Given the description of an element on the screen output the (x, y) to click on. 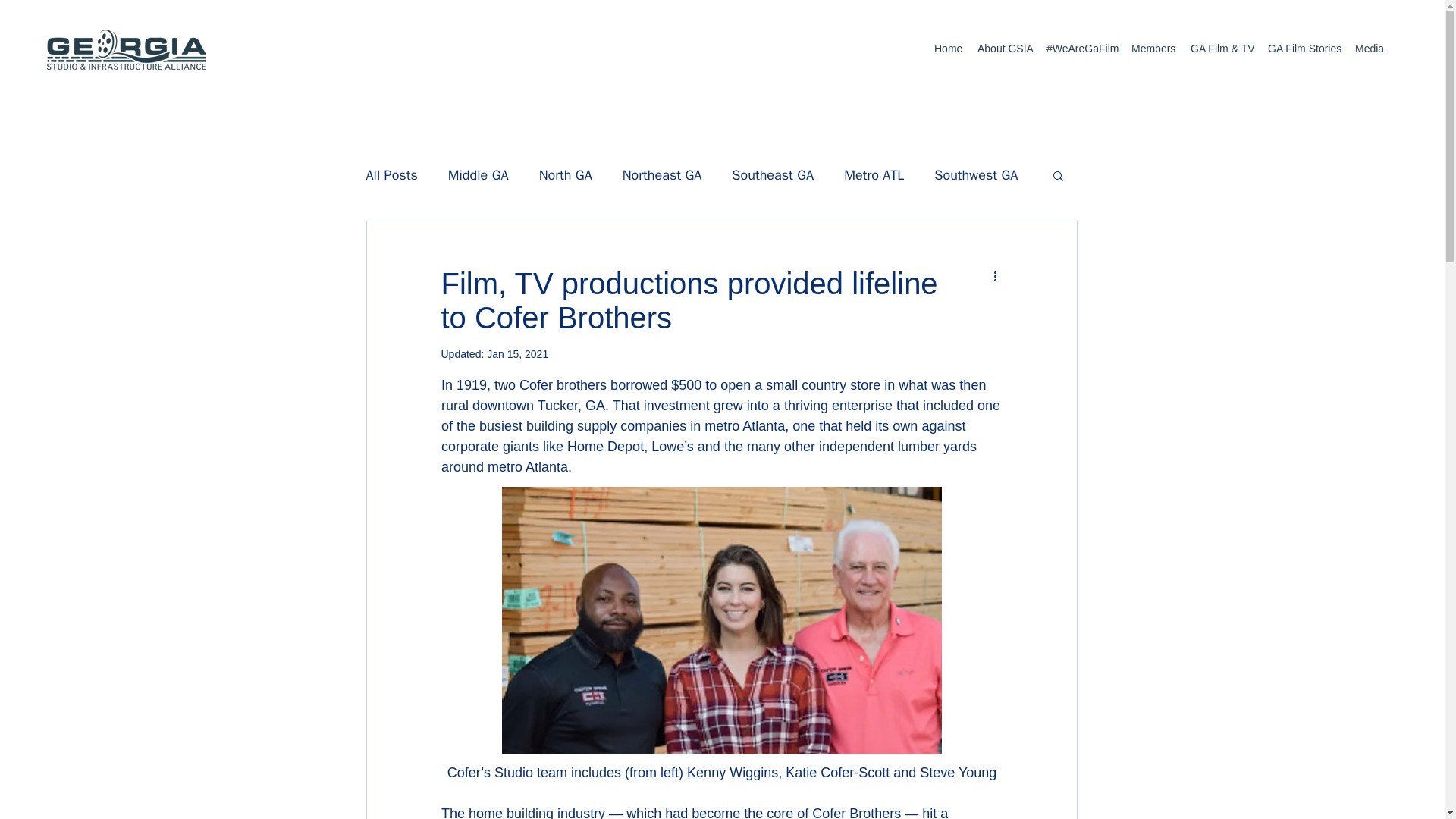
Southeast GA (772, 175)
Home (947, 48)
All Posts (390, 175)
Metro ATL (874, 175)
Southwest GA (975, 175)
Jan 15, 2021 (517, 354)
GA Film Stories (1304, 48)
Northeast GA (662, 175)
Middle GA (478, 175)
Media (1369, 48)
Members (1153, 48)
North GA (565, 175)
About GSIA (1004, 48)
